Given the description of an element on the screen output the (x, y) to click on. 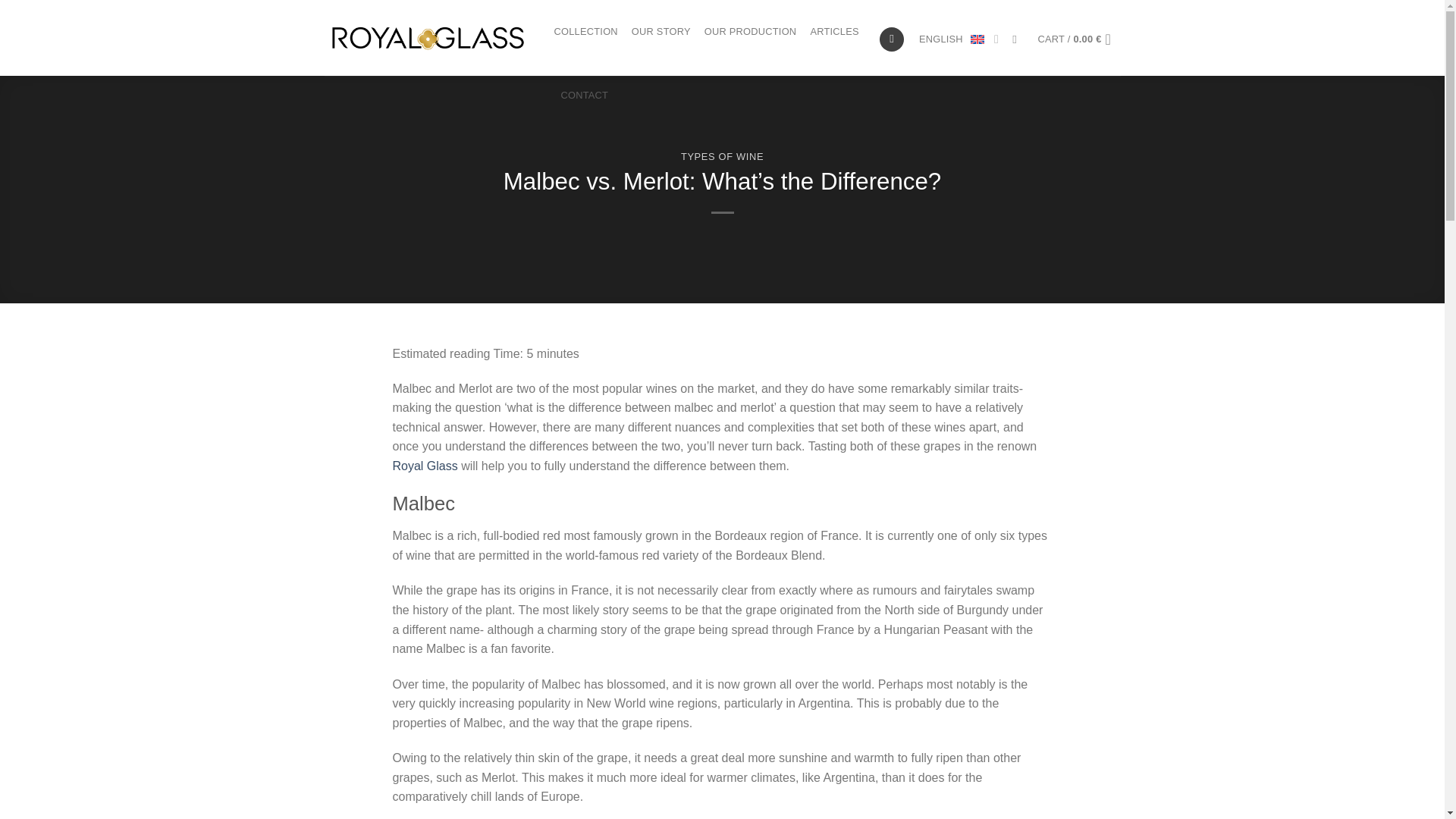
COLLECTION (585, 31)
Royal Glass (425, 465)
OUR PRODUCTION (750, 31)
Royal Glass - The perfect wine glass (427, 37)
Login (891, 39)
OUR STORY (660, 31)
ENGLISH (958, 39)
TYPES OF WINE (721, 156)
Cart (1079, 39)
